Given the description of an element on the screen output the (x, y) to click on. 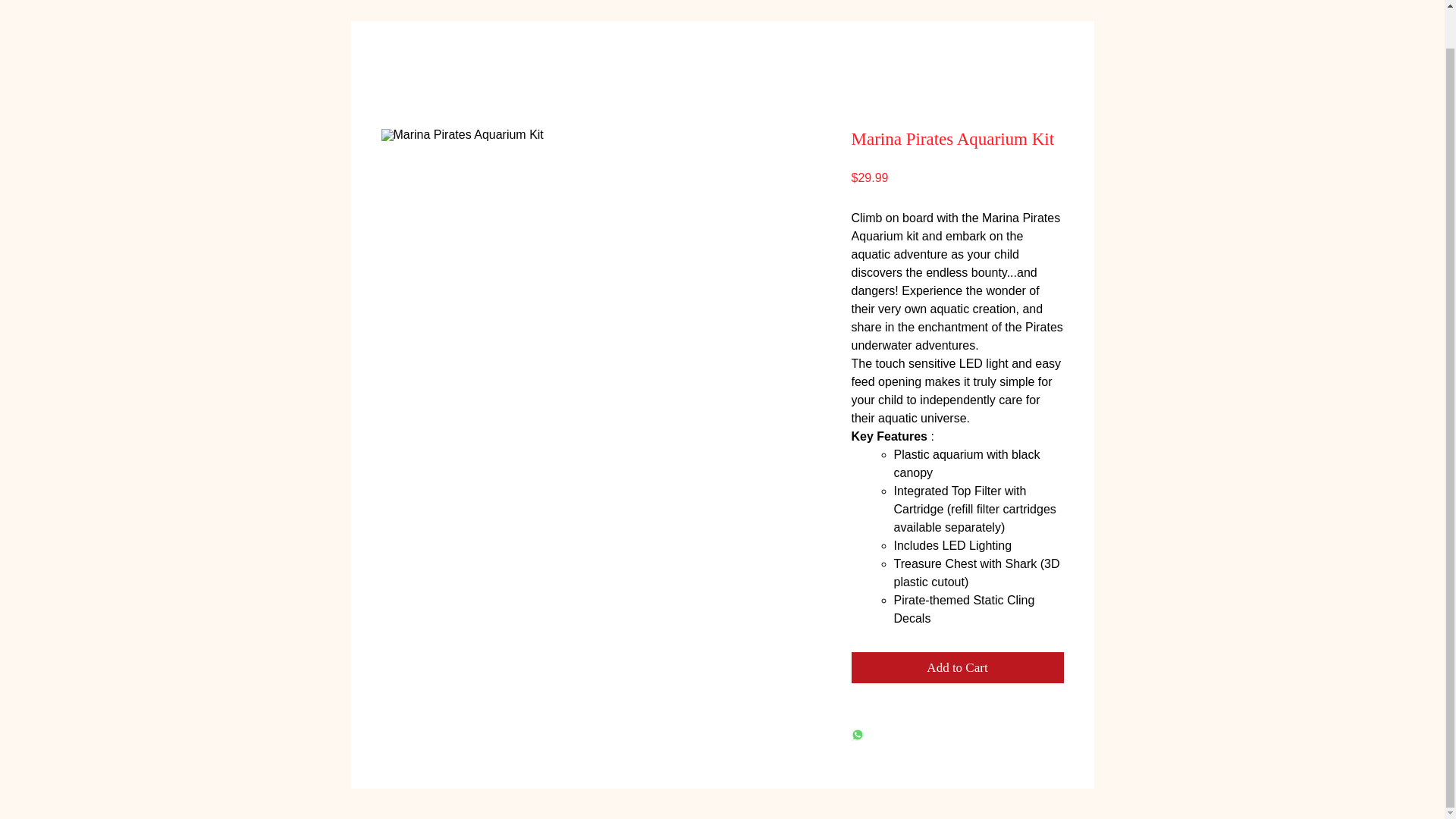
Add to Cart (956, 667)
Log In (1106, 2)
